Given the description of an element on the screen output the (x, y) to click on. 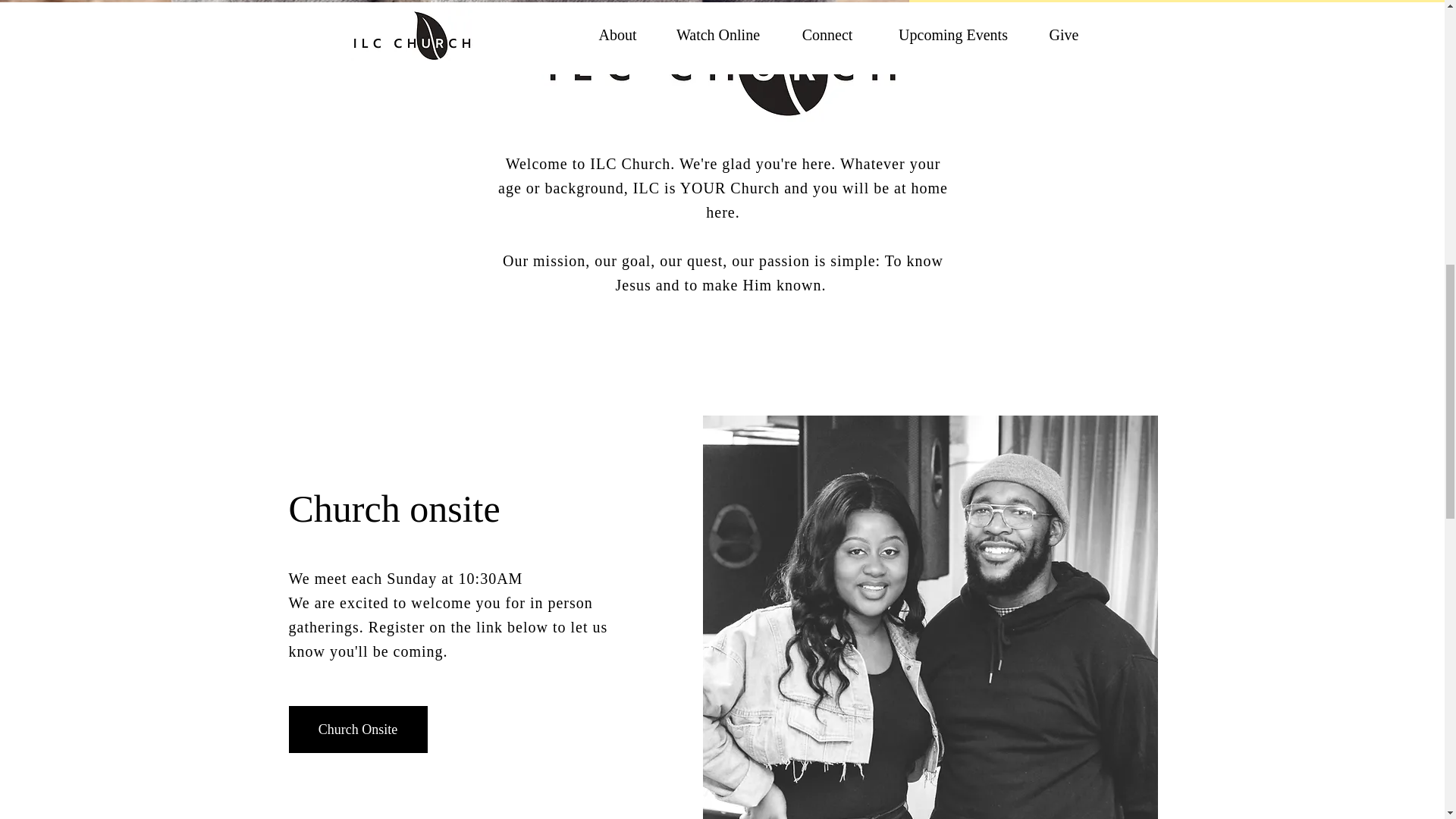
Church Onsite (357, 728)
ILC Logo Sketch.jpg (723, 130)
